Given the description of an element on the screen output the (x, y) to click on. 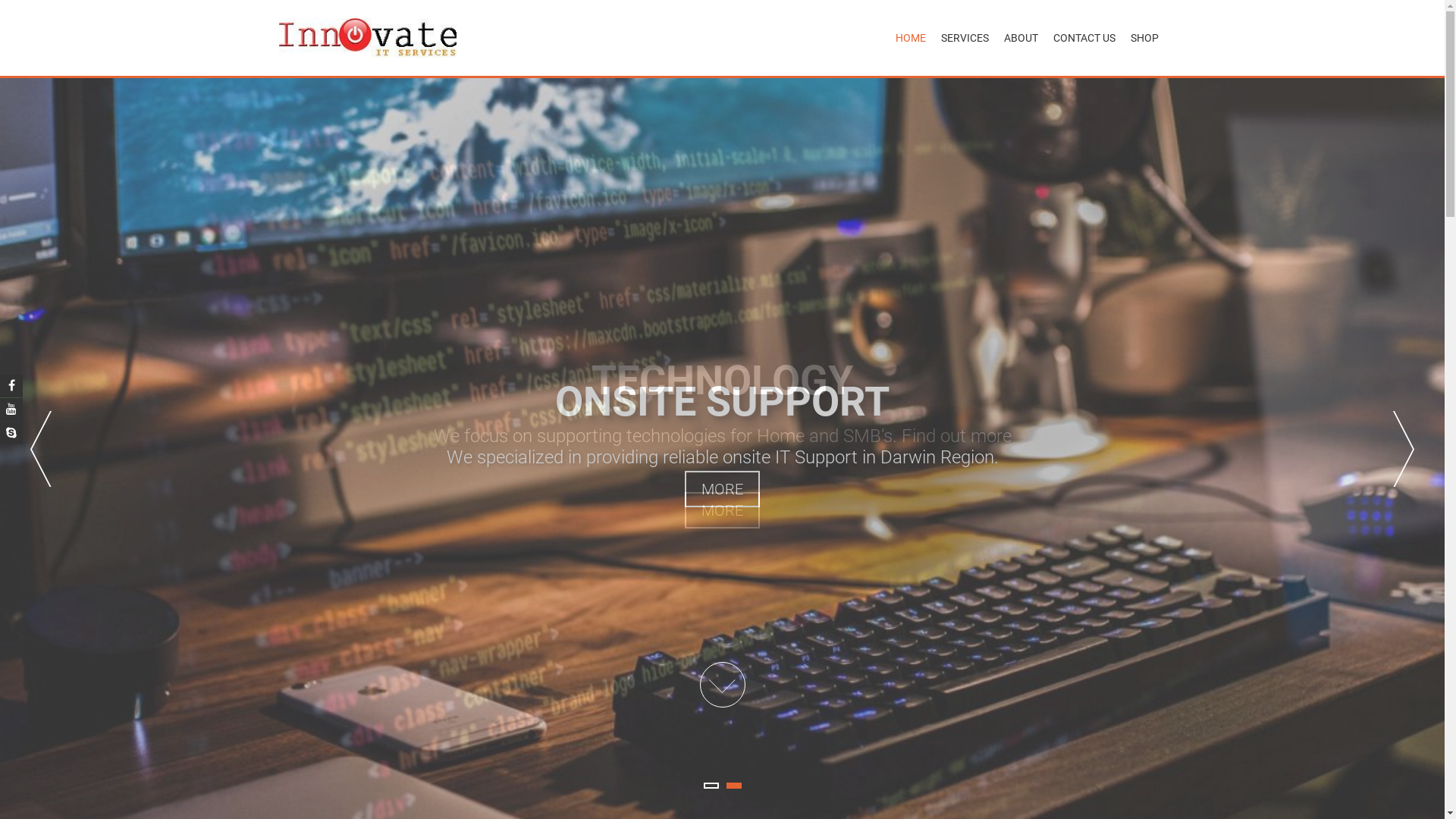
Next Element type: text (1403, 448)
ABOUT Element type: text (1020, 38)
2 Element type: text (733, 785)
1 Element type: text (710, 785)
SERVICES Element type: text (963, 38)
SHOP Element type: text (1143, 38)
Previous Element type: text (40, 448)
CONTACT US Element type: text (1083, 38)
MORE Element type: text (721, 488)
HOME Element type: text (909, 38)
MORE Element type: text (721, 510)
